Given the description of an element on the screen output the (x, y) to click on. 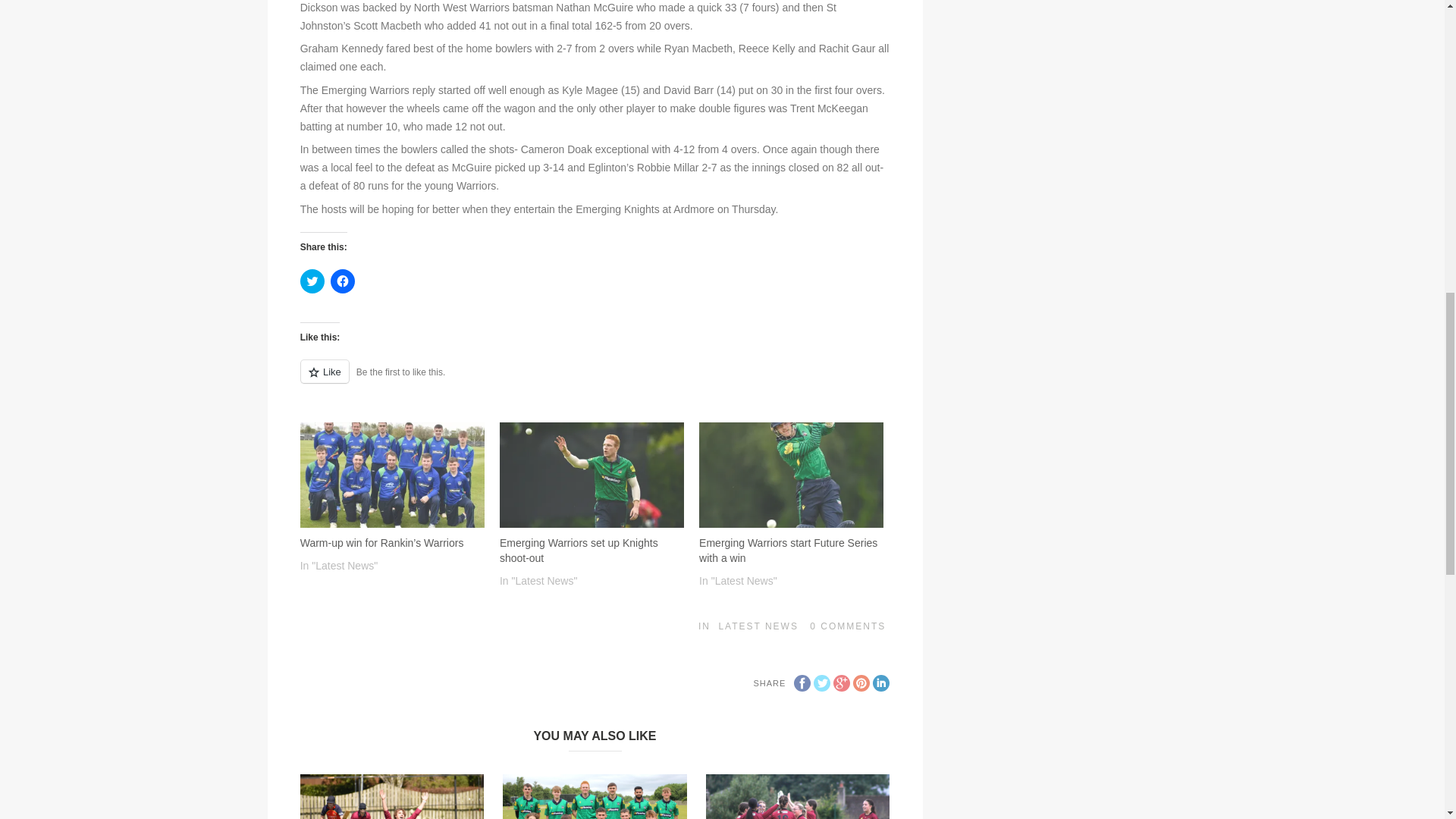
Click to share on Twitter (311, 281)
Emerging Warriors set up Knights shoot-out (578, 550)
Pinterest (861, 682)
Emerging Warriors set up Knights shoot-out (591, 474)
Emerging Warriors start Future Series with a win (790, 474)
Facebook (801, 682)
Click to share on Facebook (342, 281)
Twitter (821, 682)
Emerging Warriors start Future Series with a win (787, 550)
Like or Reblog (594, 380)
